Given the description of an element on the screen output the (x, y) to click on. 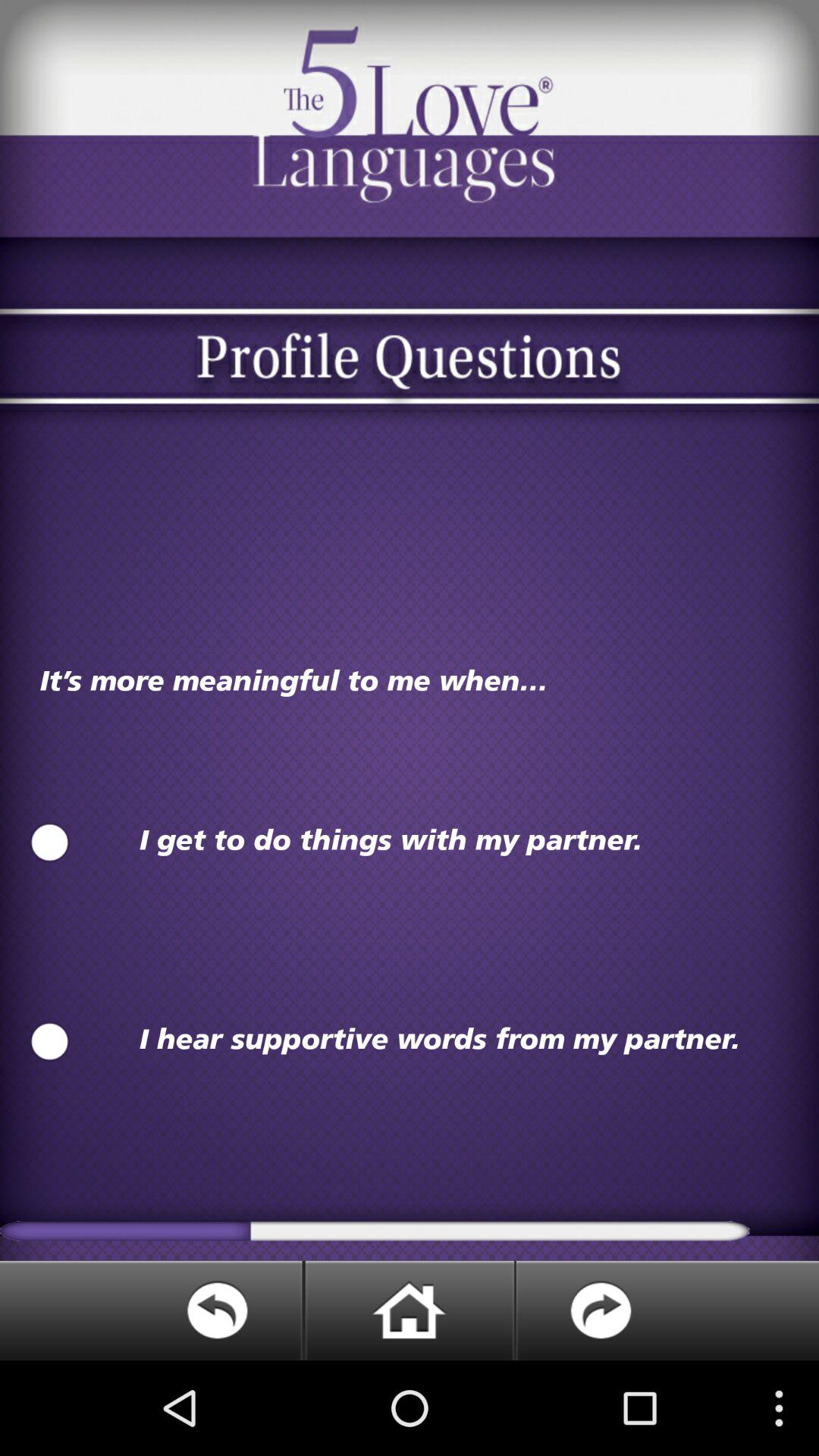
click to choose this option (49, 1041)
